Given the description of an element on the screen output the (x, y) to click on. 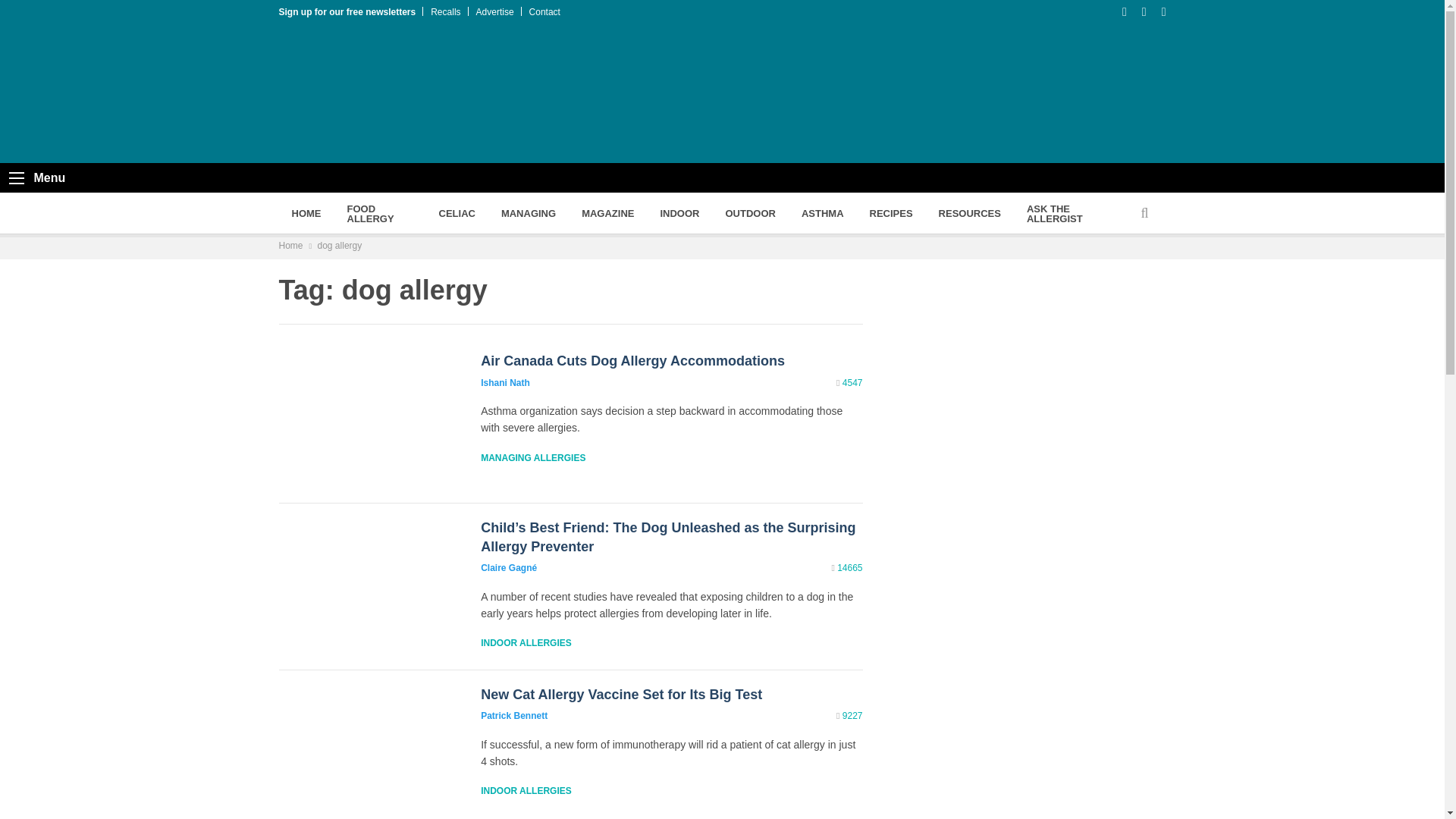
MANAGING (528, 212)
Air Canada Cuts Dog Allergy Accommodations (632, 360)
Recalls (445, 11)
Advertise (494, 11)
Food Allergy (379, 212)
Contact (544, 11)
CELIAC (456, 212)
Posts by Ishani Nath (504, 382)
HOME (306, 212)
FOOD ALLERGY (379, 212)
Posts by Patrick Bennett (513, 715)
Sign up for our free newsletters (346, 11)
Allergic Living (418, 93)
New Cat Allergy Vaccine Set for Its Big Test (620, 694)
